Given the description of an element on the screen output the (x, y) to click on. 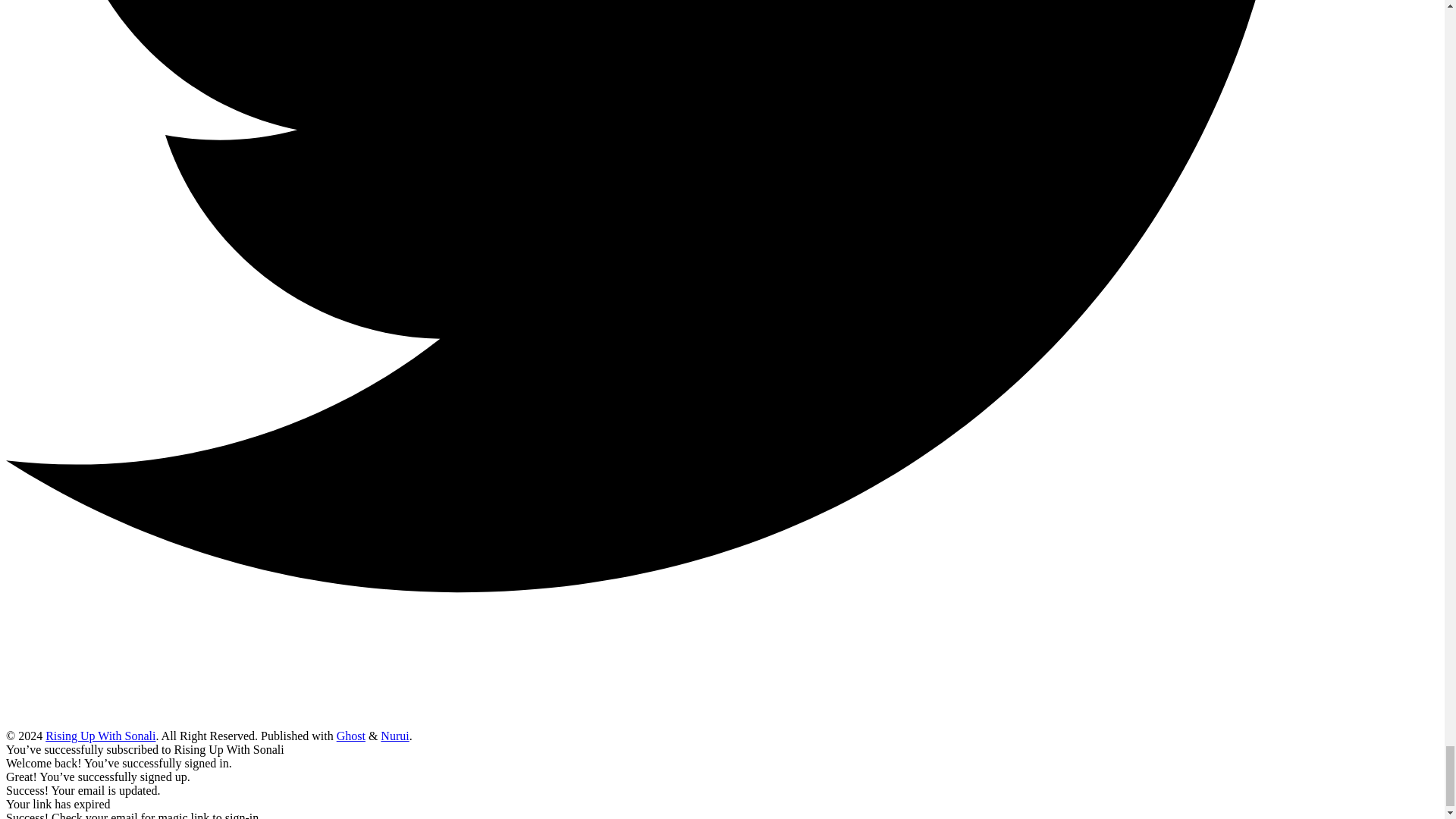
Rising Up With Sonali (100, 735)
Ghost (350, 735)
Nurui (394, 735)
